Given the description of an element on the screen output the (x, y) to click on. 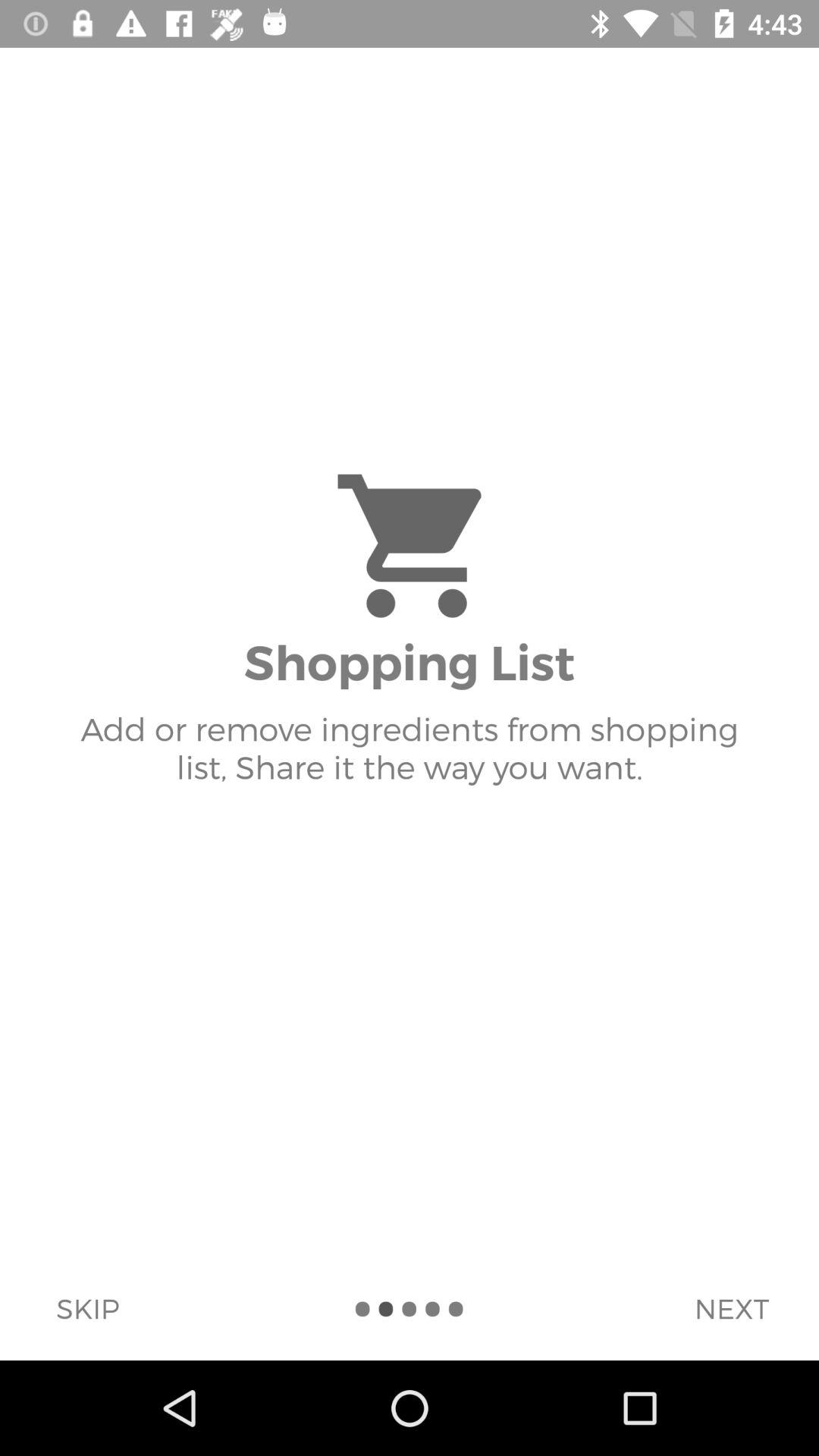
open skip (87, 1308)
